Given the description of an element on the screen output the (x, y) to click on. 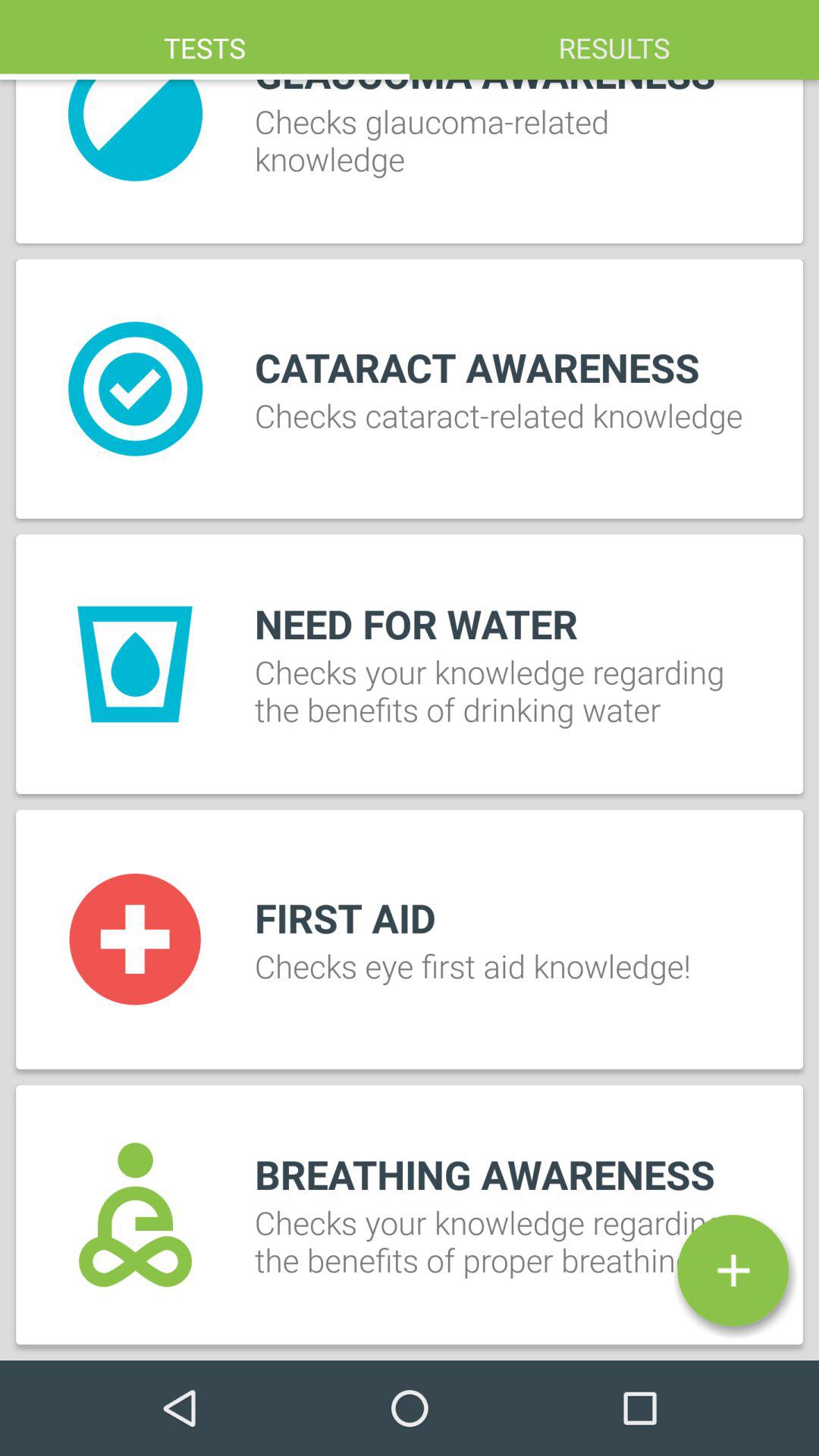
click item at the top right corner (614, 39)
